Given the description of an element on the screen output the (x, y) to click on. 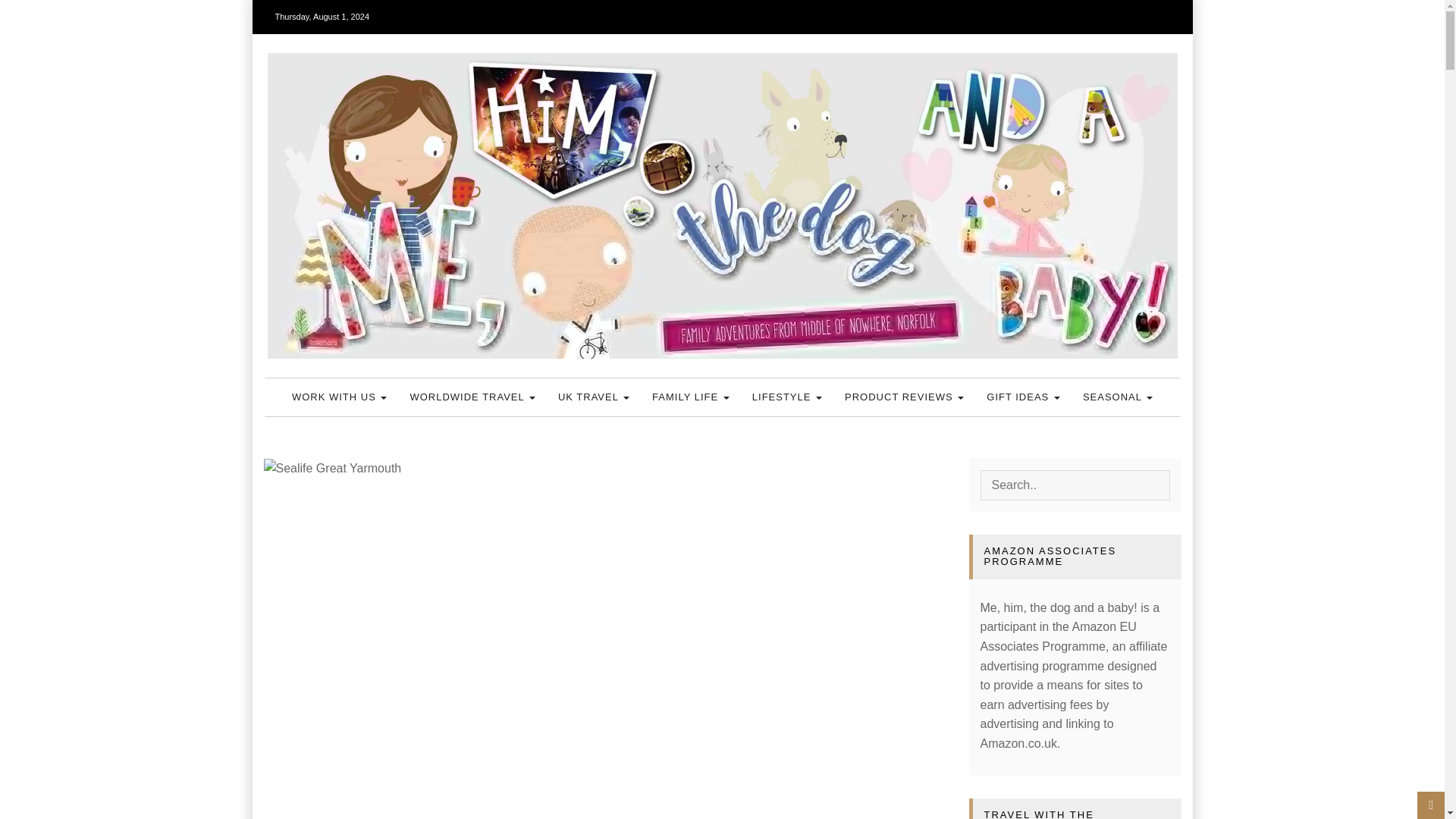
Work With Us (339, 397)
WORLDWIDE TRAVEL (471, 397)
Worldwide Travel (471, 397)
WORK WITH US (339, 397)
UK TRAVEL (593, 397)
